Given the description of an element on the screen output the (x, y) to click on. 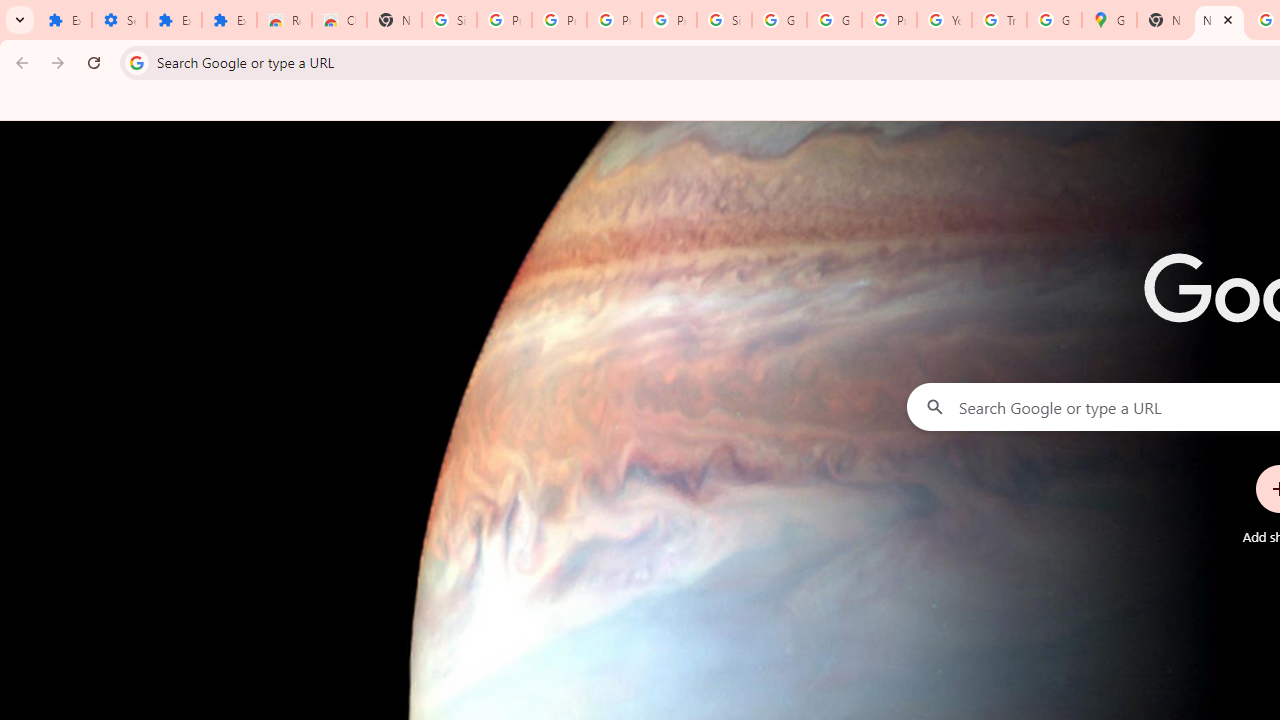
New Tab (1218, 20)
New Tab (1163, 20)
Extensions (174, 20)
Extensions (229, 20)
Settings (119, 20)
Chrome Web Store - Themes (339, 20)
Sign in - Google Accounts (449, 20)
